Given the description of an element on the screen output the (x, y) to click on. 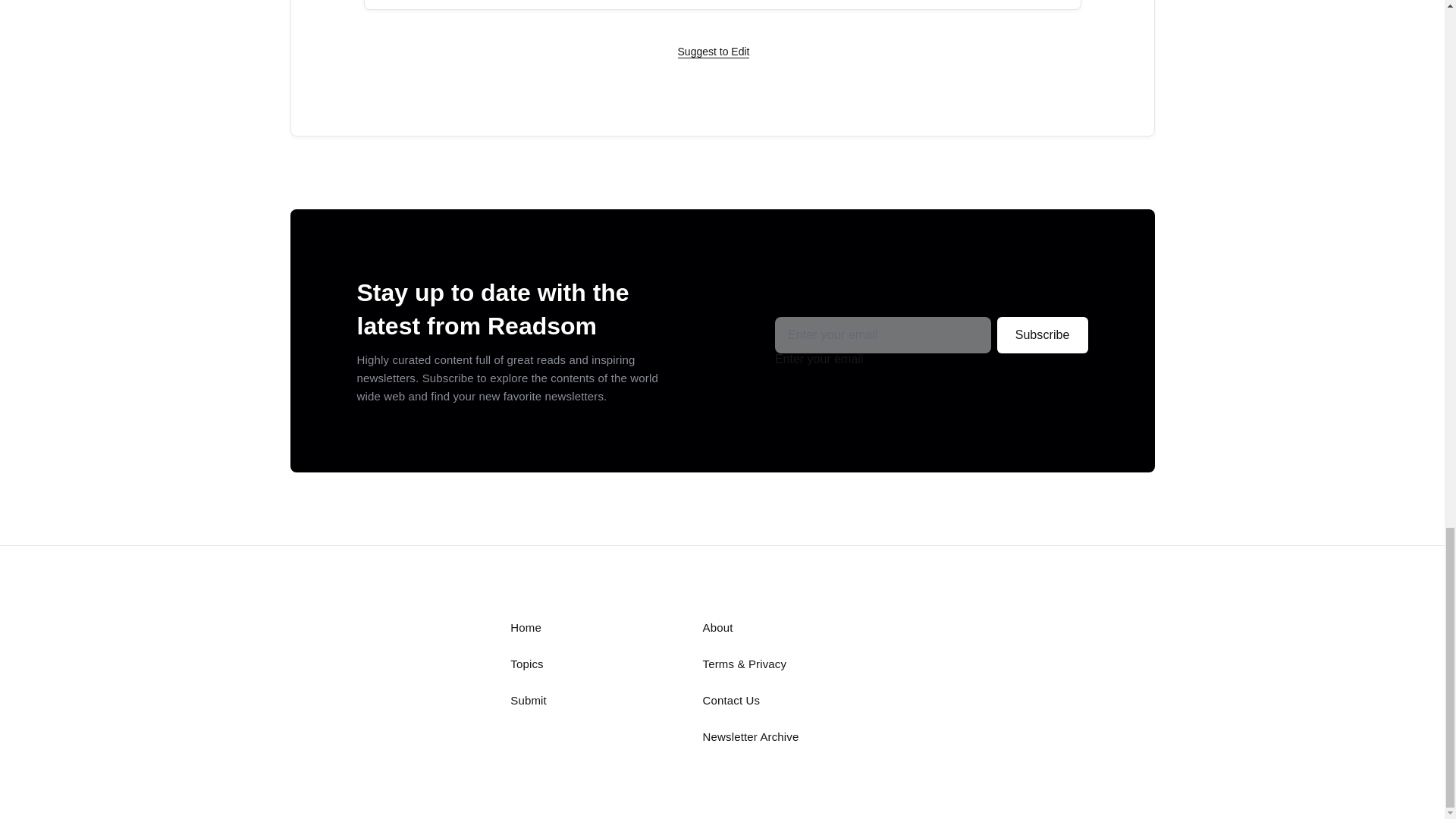
Topics (527, 663)
Home (526, 626)
Newsletter Archive (751, 736)
Suggest to Edit (713, 51)
Contact Us (731, 699)
About (718, 626)
Submit (529, 699)
Subscribe (1042, 334)
